Given the description of an element on the screen output the (x, y) to click on. 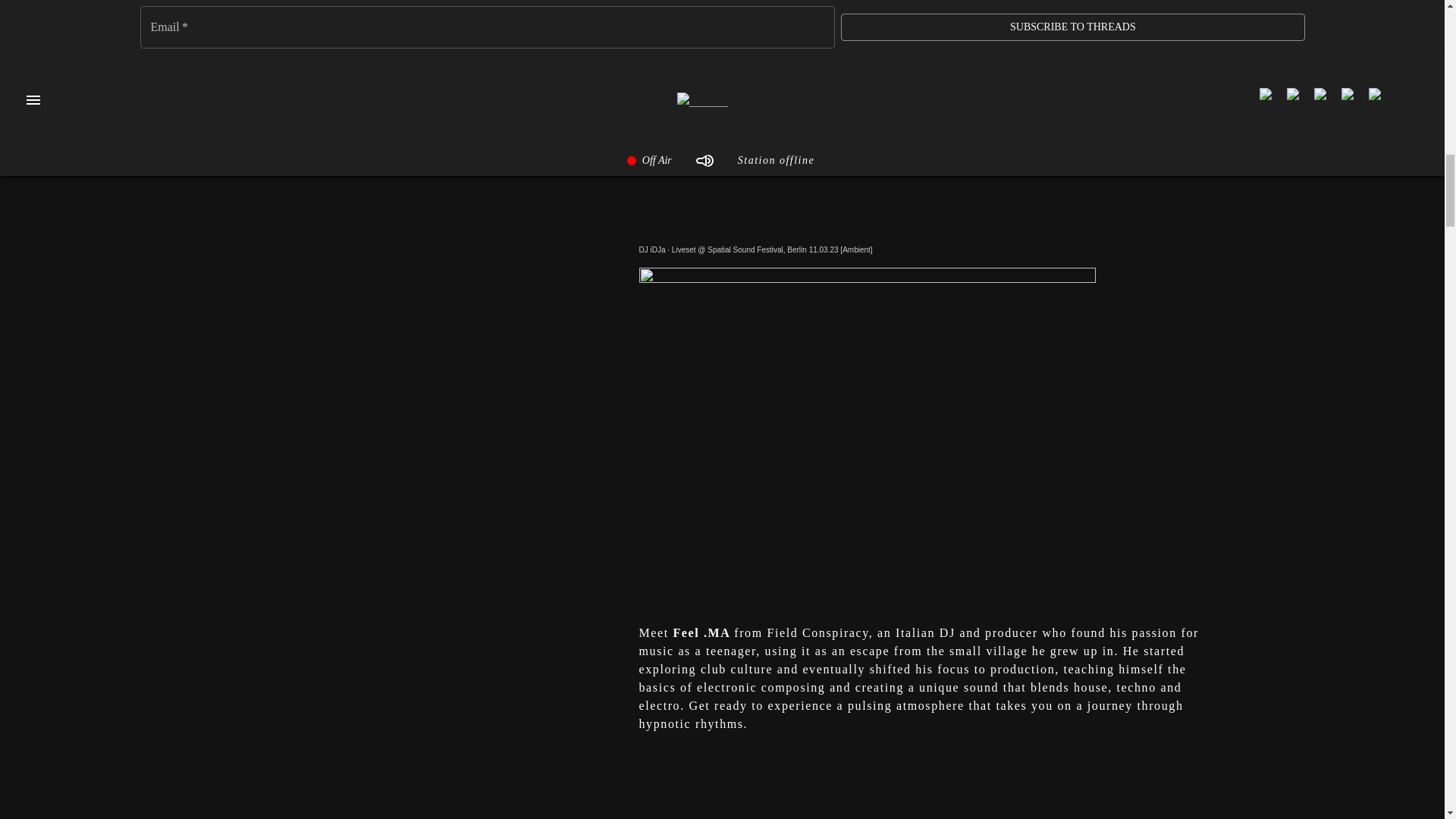
DJ iDJa (652, 249)
Feel .MA (929, 783)
DJ iDJa (929, 47)
DJ iDJa (652, 249)
